Given the description of an element on the screen output the (x, y) to click on. 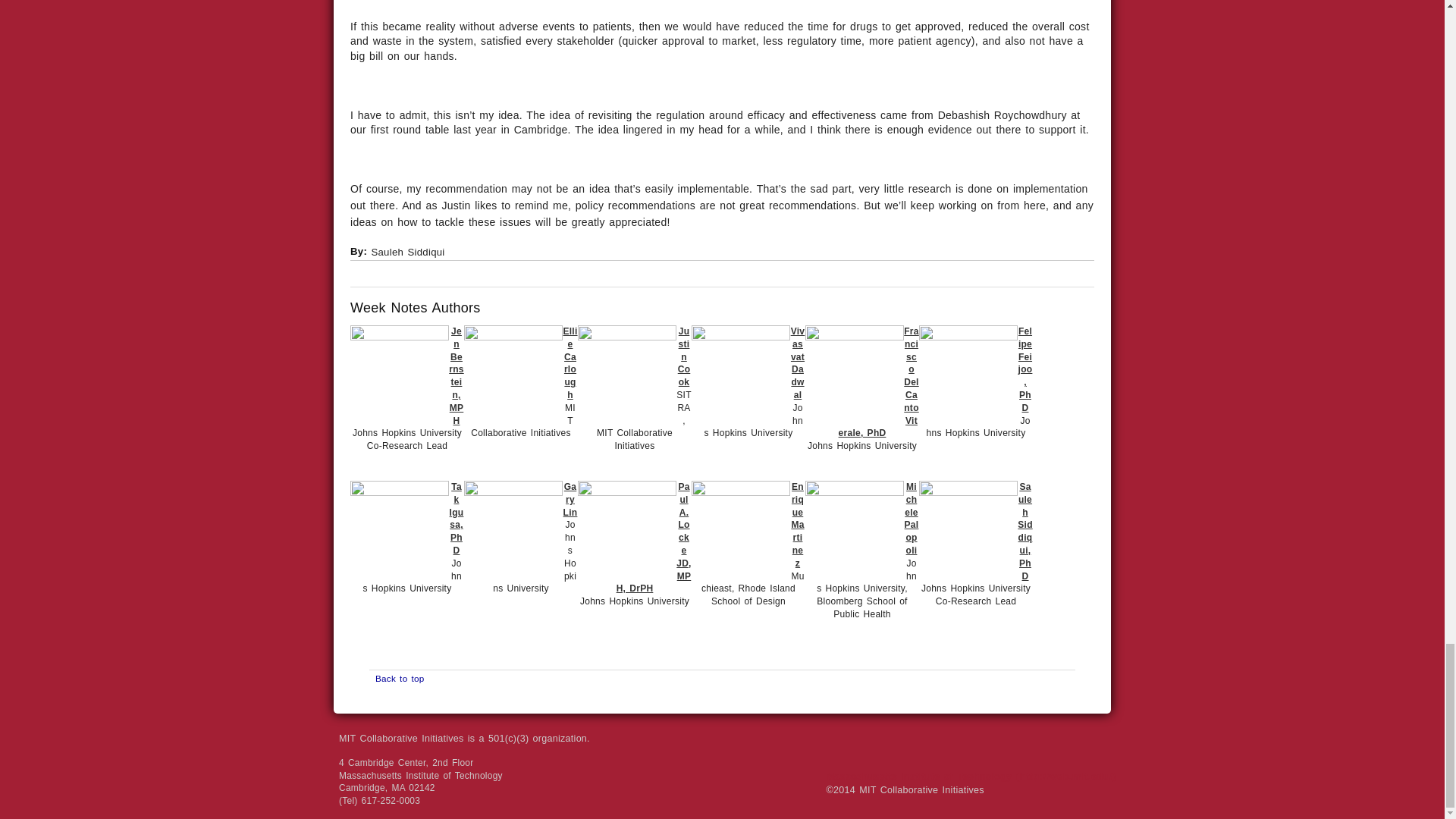
Back to top (397, 678)
Massachusetts Institute of Technology (971, 753)
Massachusetts Institute of Technology (971, 753)
